Given the description of an element on the screen output the (x, y) to click on. 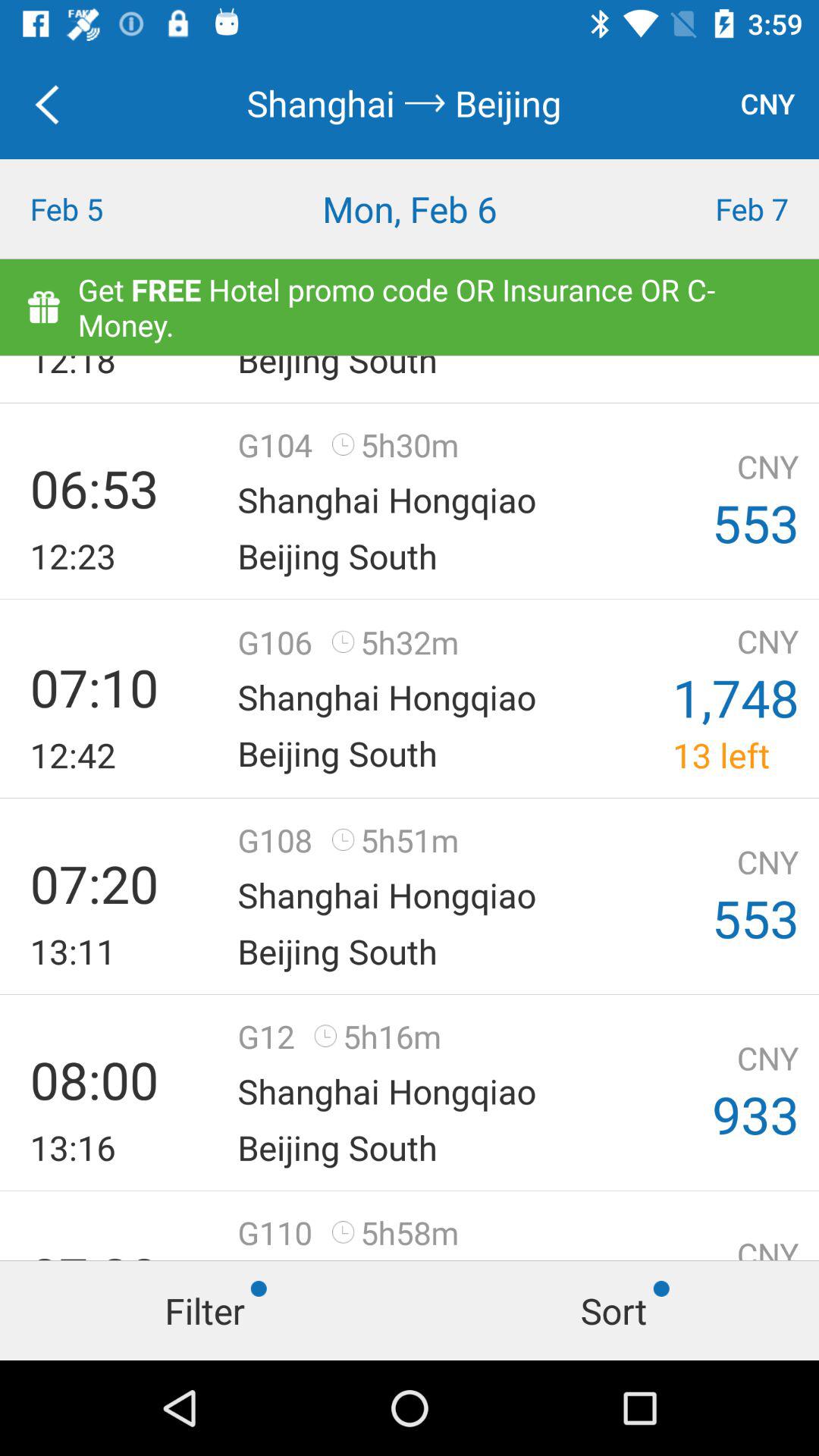
choose the item to the left of the shanghai item (55, 103)
